Given the description of an element on the screen output the (x, y) to click on. 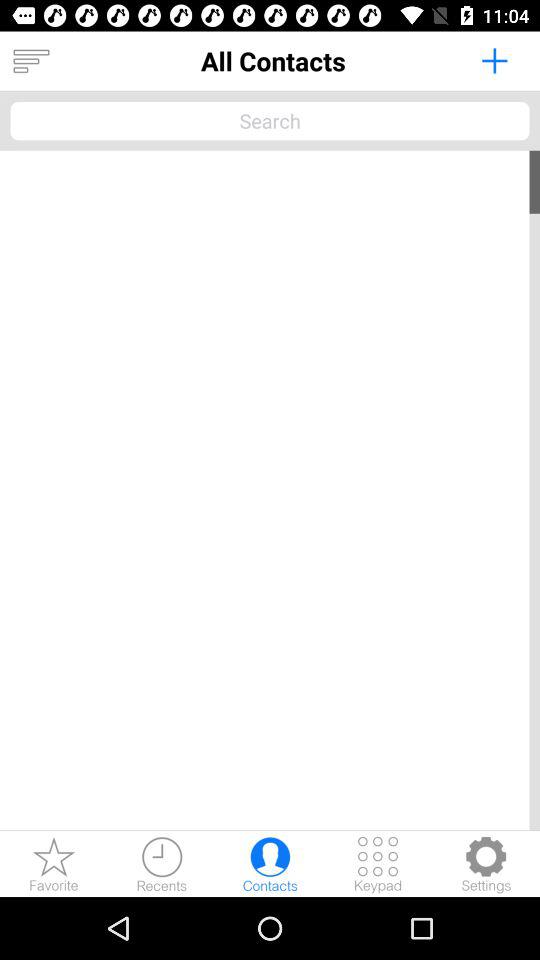
favorite phone contacts (53, 864)
